Given the description of an element on the screen output the (x, y) to click on. 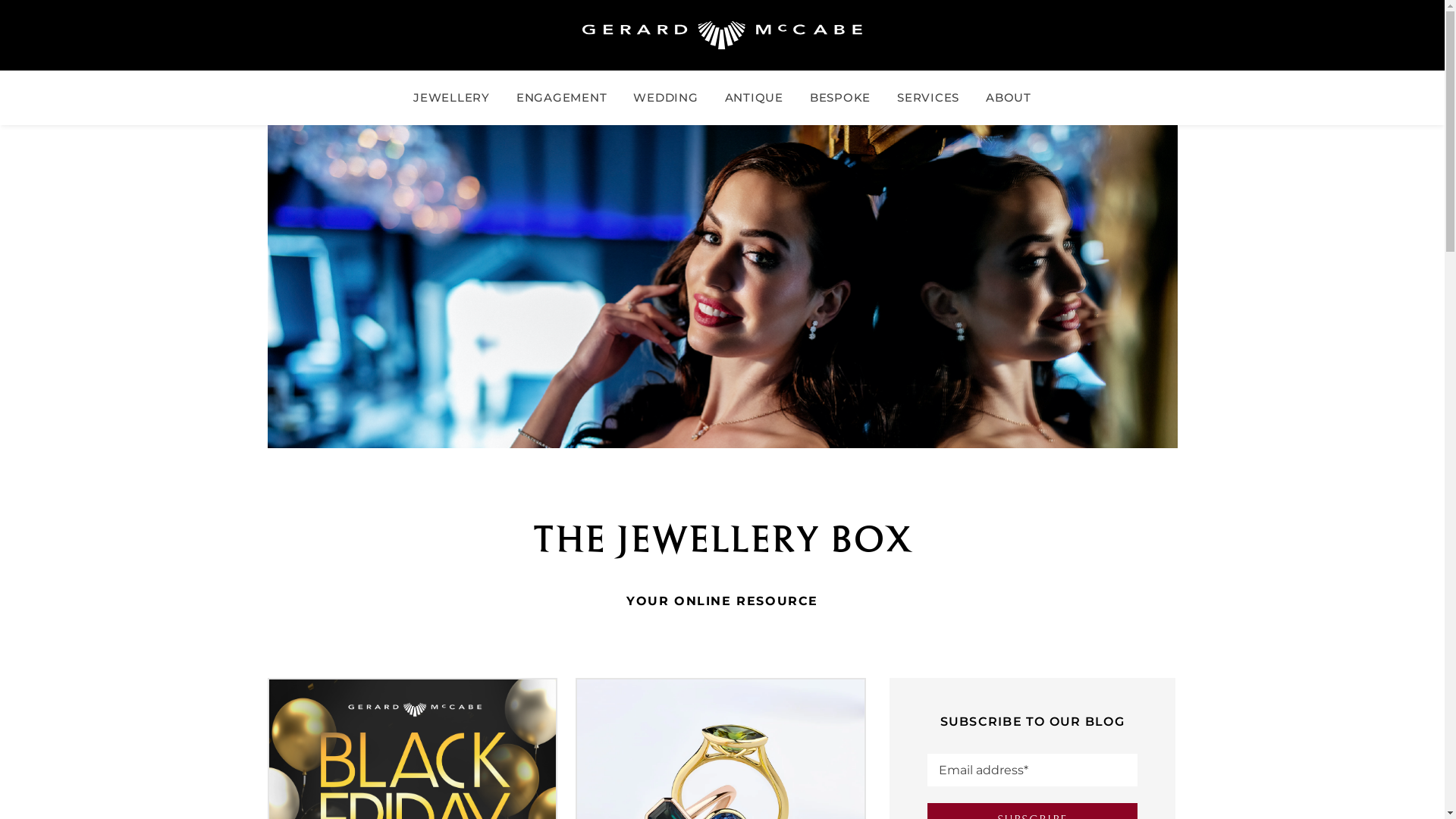
BESPOKE Element type: text (839, 97)
ENGAGEMENT Element type: text (561, 97)
JEWELLERY Element type: text (451, 97)
WEDDING Element type: text (665, 97)
ANTIQUE Element type: text (753, 97)
SERVICES Element type: text (928, 97)
ABOUT Element type: text (1008, 97)
